Given the description of an element on the screen output the (x, y) to click on. 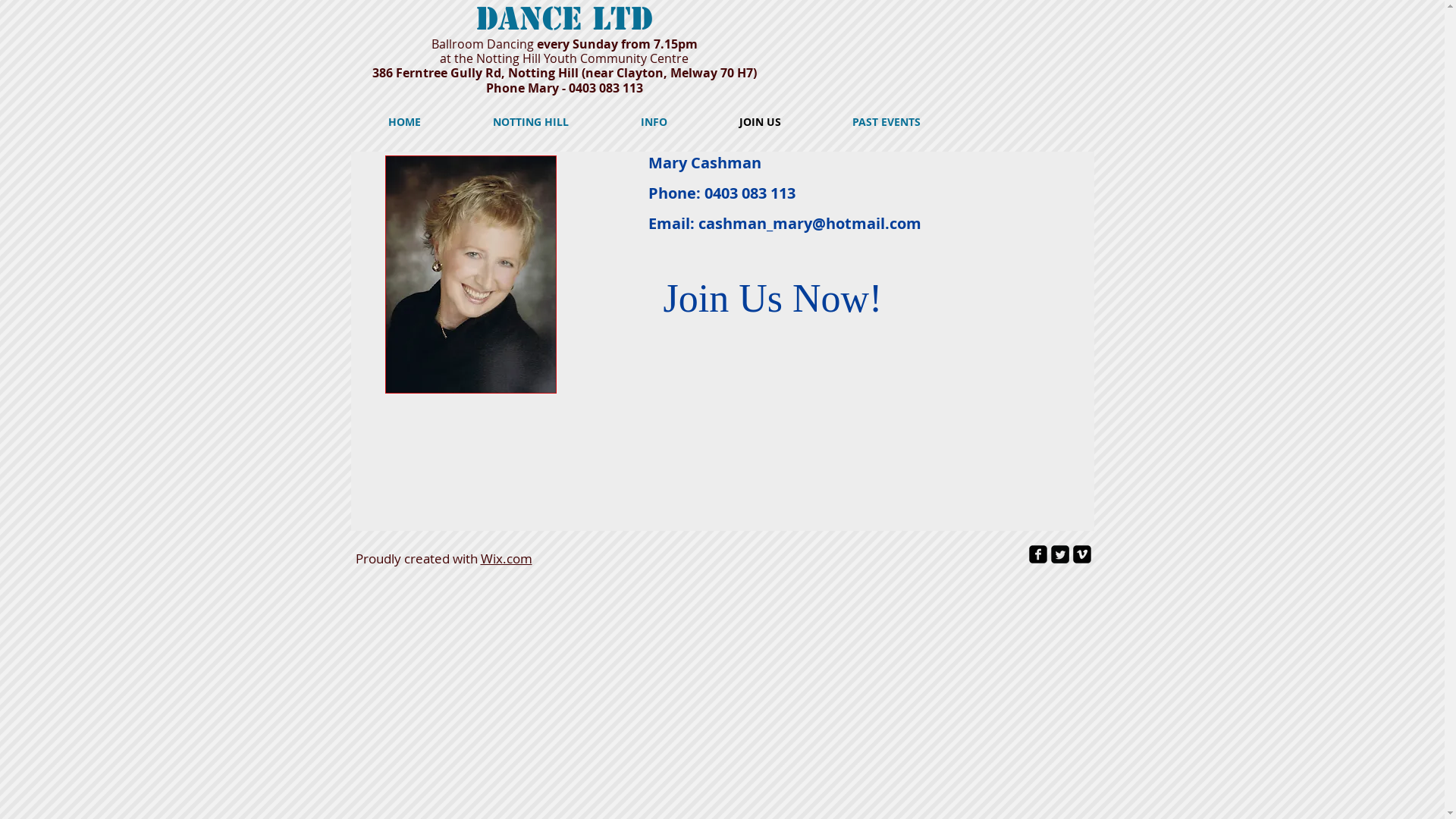
HOME Element type: text (403, 121)
NOTTING HILL Element type: text (530, 121)
cashman_mary@hotmail.com Element type: text (808, 223)
INFO Element type: text (654, 121)
JOIN US Element type: text (759, 121)
PAST EVENTS Element type: text (885, 121)
Wix.com Element type: text (506, 558)
